Given the description of an element on the screen output the (x, y) to click on. 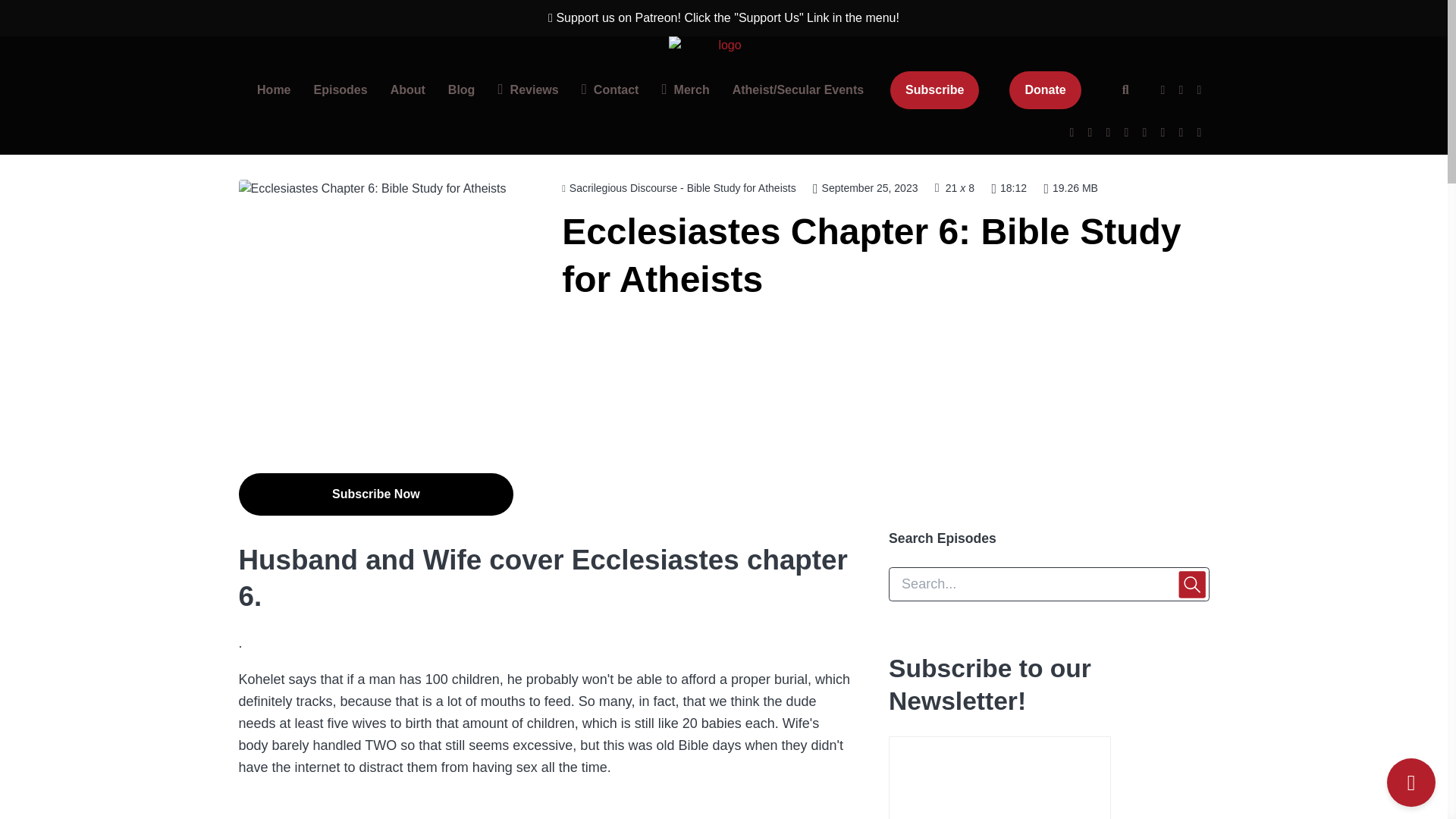
Sacrilegious Discourse - Bible Study for Atheists (678, 188)
Podcast (678, 187)
About (407, 90)
Donate (1044, 89)
Home (273, 90)
Episode Duration (1008, 187)
Merch (684, 90)
Contact (610, 90)
Reviews (527, 90)
21 (951, 187)
